Given the description of an element on the screen output the (x, y) to click on. 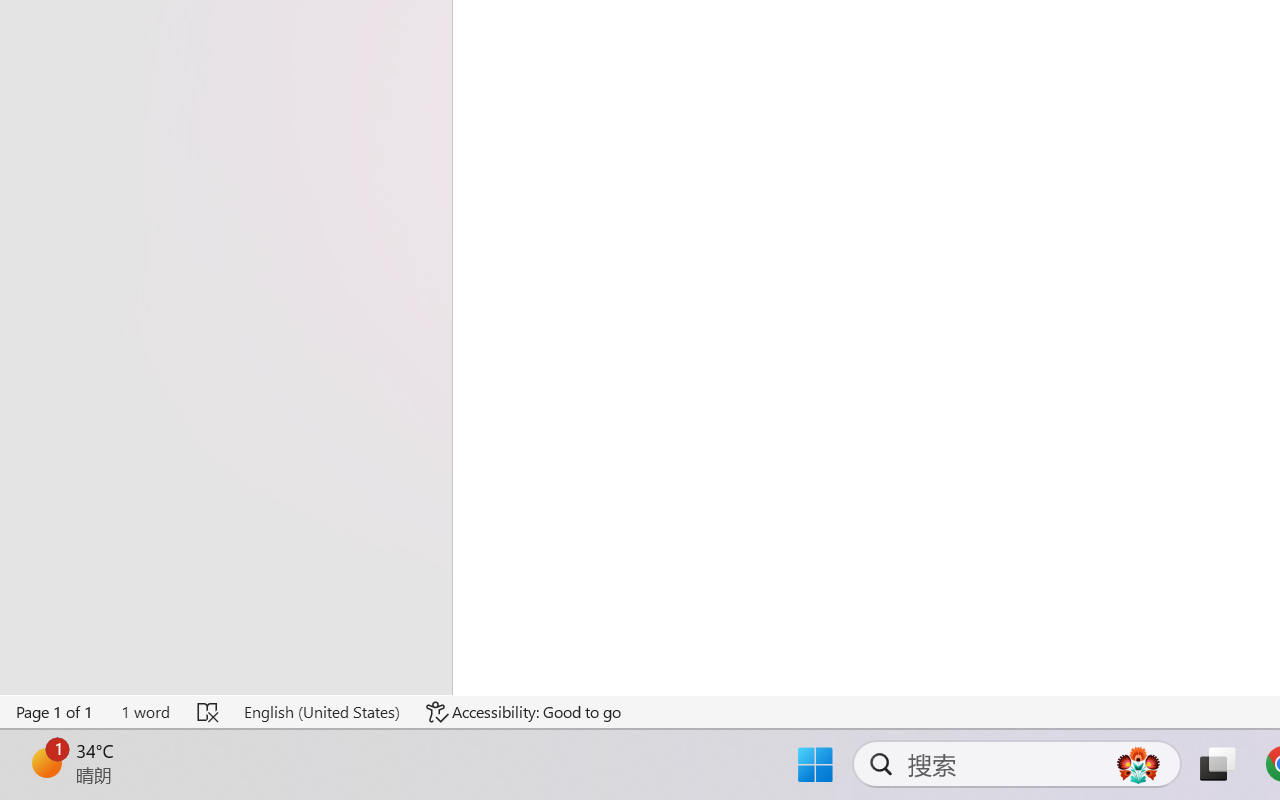
Spelling and Grammar Check Errors (208, 712)
